Given the description of an element on the screen output the (x, y) to click on. 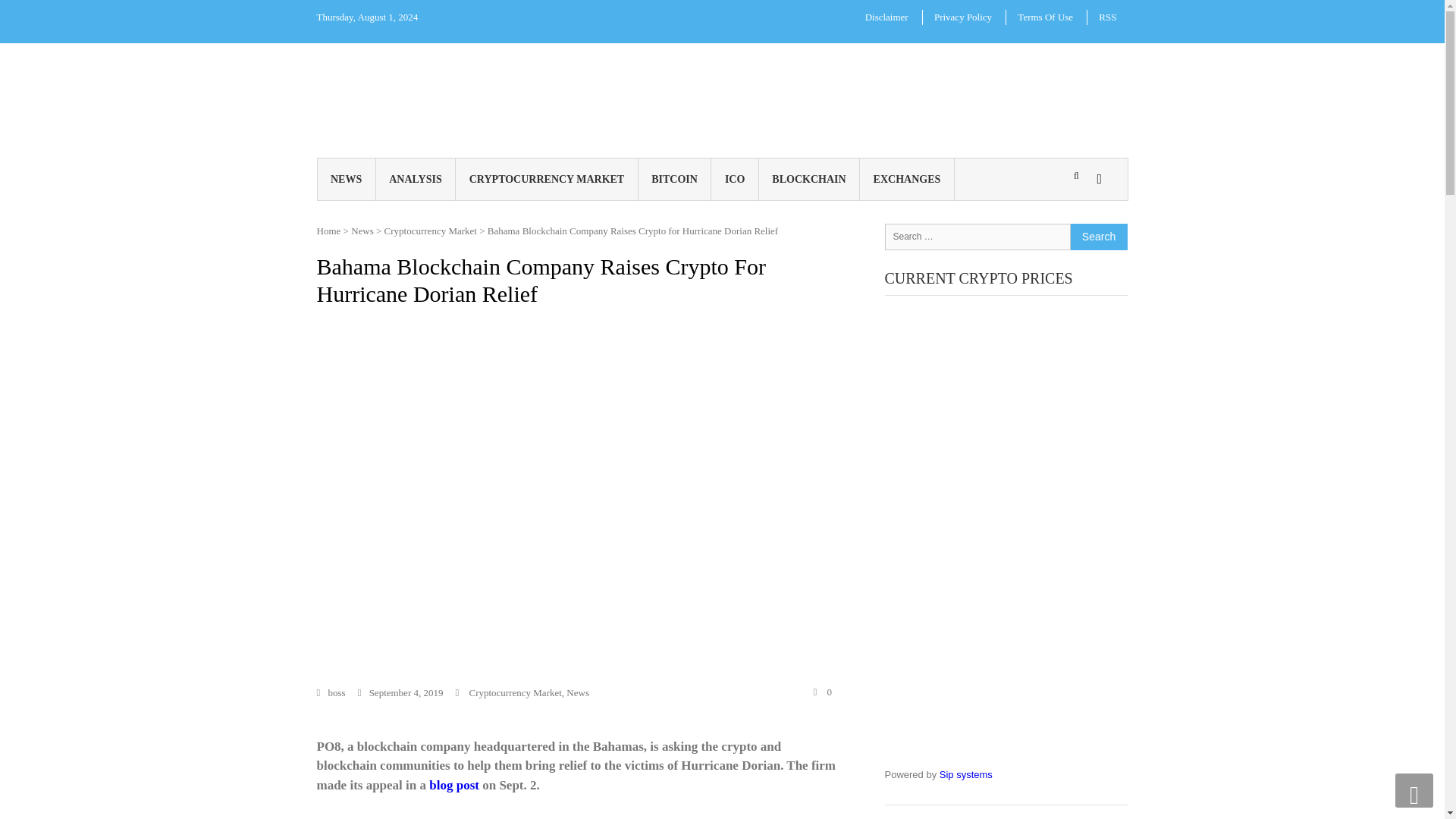
RSS (1106, 16)
News (577, 692)
Home (328, 229)
BITCOIN (675, 178)
Cryptocurrency Market (514, 692)
CRYPTOX (554, 87)
0 (821, 691)
NEWS (346, 178)
CRYPTOCURRENCY MARKET (546, 178)
Privacy Policy (963, 16)
Search (1098, 235)
September 4, 2019 (401, 692)
EXCHANGES (907, 178)
BLOCKCHAIN (809, 178)
Terms Of Use (1045, 16)
